Given the description of an element on the screen output the (x, y) to click on. 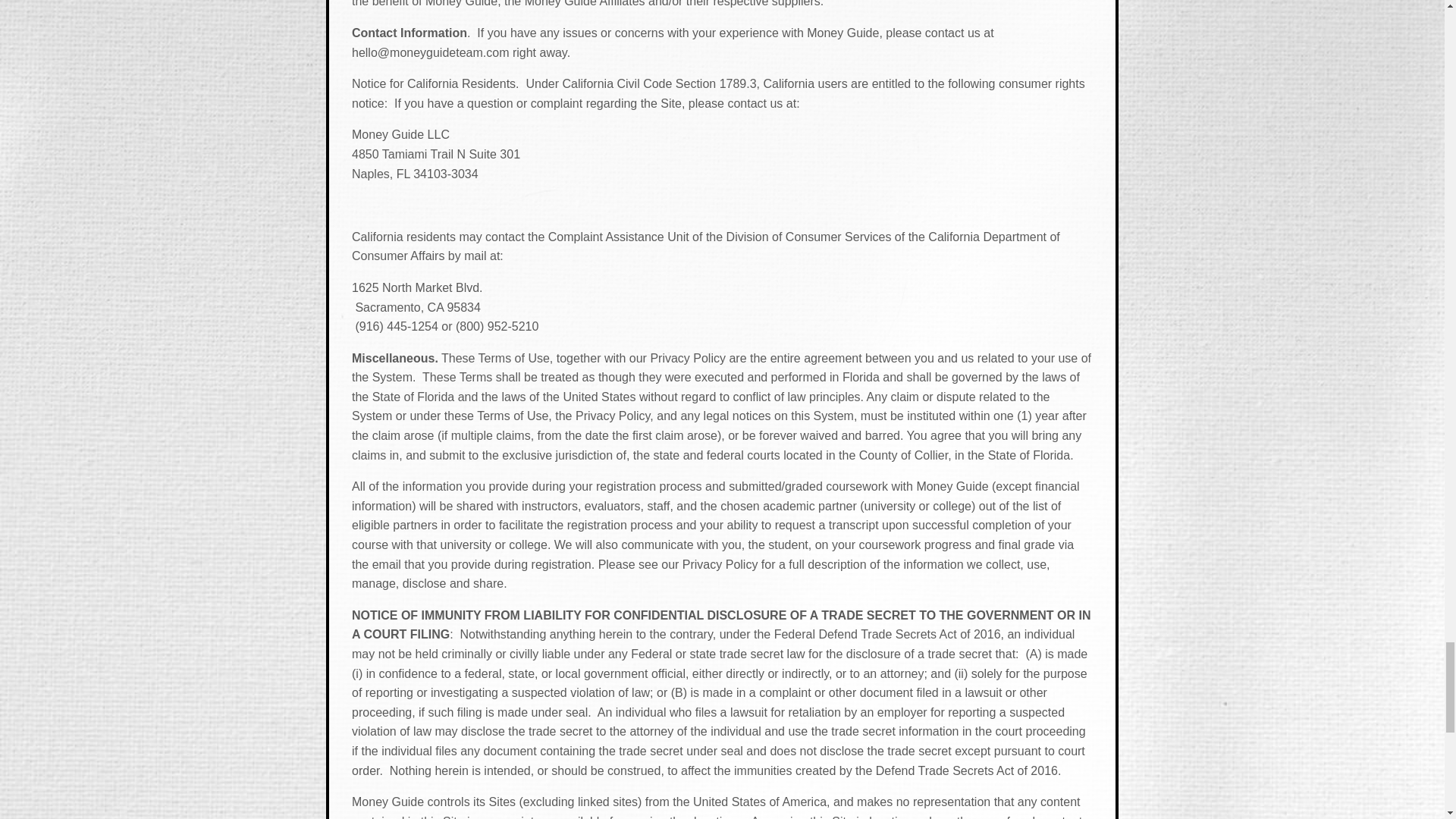
Privacy Policy (687, 358)
Privacy Policy (612, 415)
Privacy Policy (720, 563)
